Given the description of an element on the screen output the (x, y) to click on. 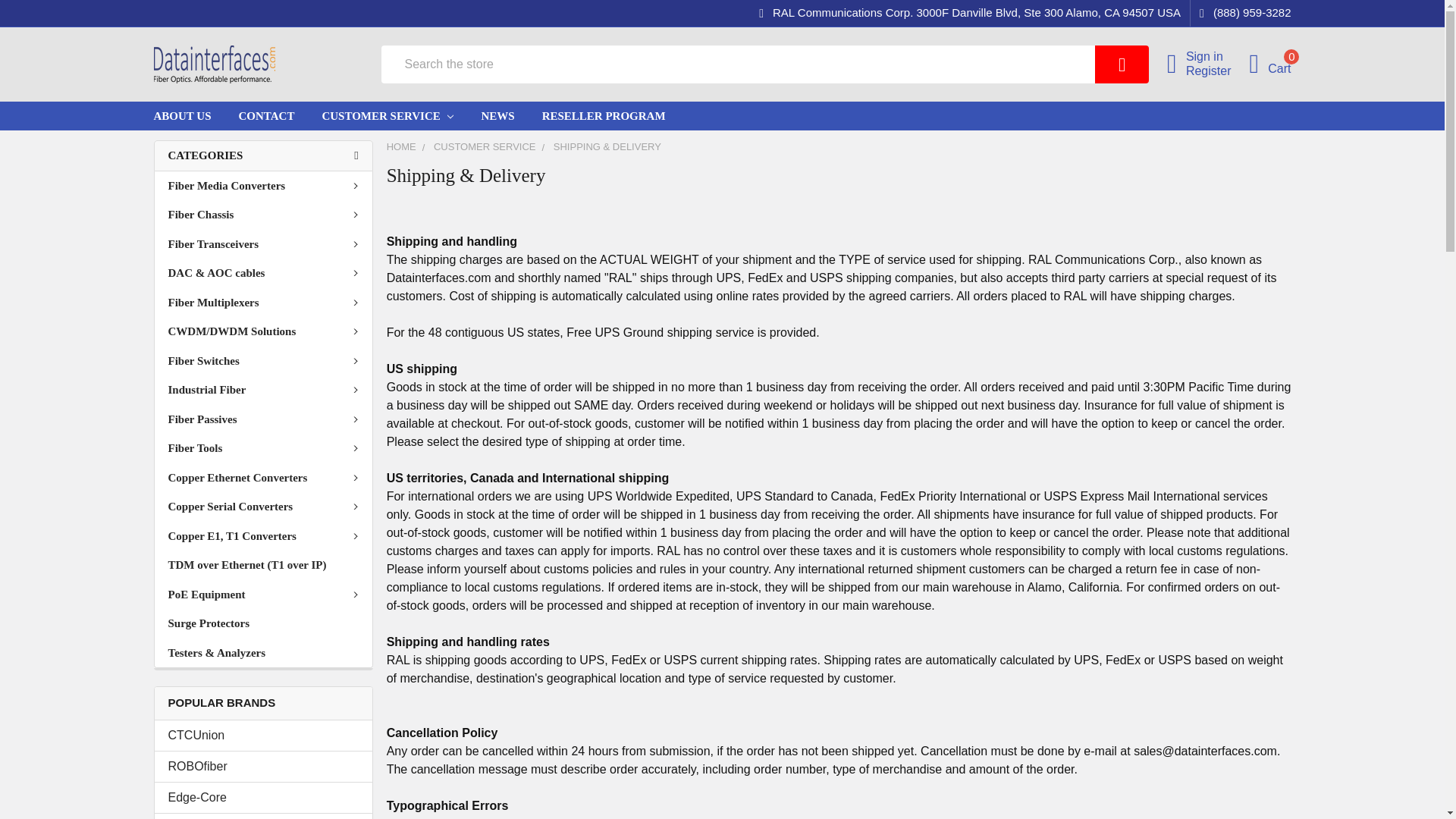
Search (1125, 64)
Sign in (1217, 56)
ROBOfiber (263, 766)
Datainterfaces (213, 64)
Search (1125, 64)
Register (1217, 69)
Cart (1269, 63)
Edge-Core (263, 797)
CTCUnion (263, 735)
